Given the description of an element on the screen output the (x, y) to click on. 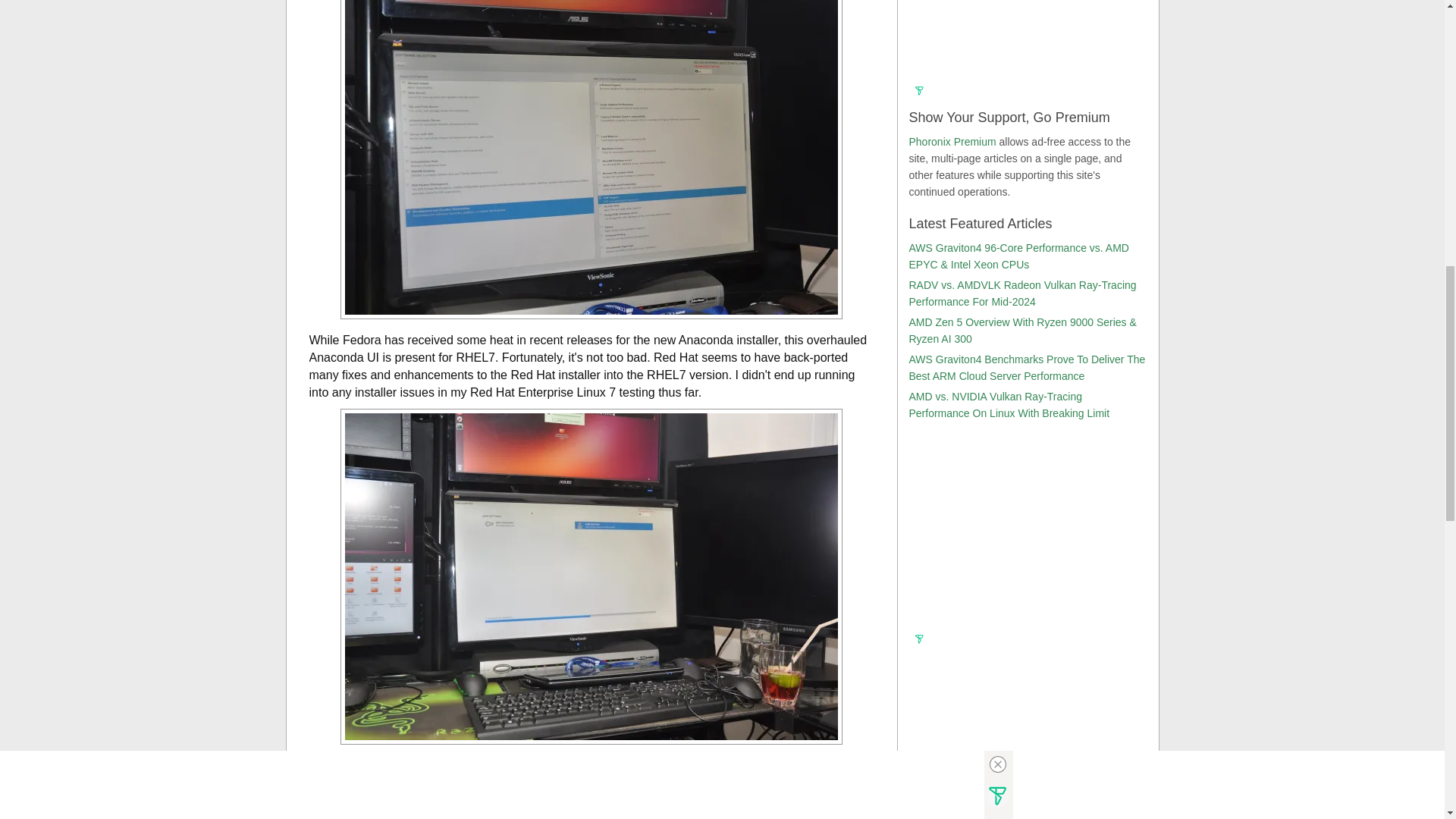
3rd party ad content (1026, 40)
3rd party ad content (1026, 534)
